Given the description of an element on the screen output the (x, y) to click on. 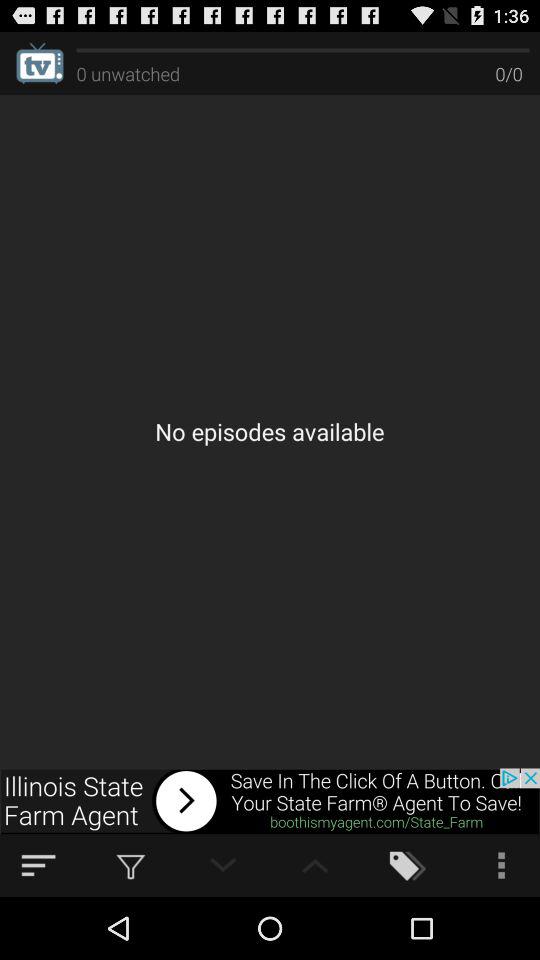
advertisement (270, 801)
